Given the description of an element on the screen output the (x, y) to click on. 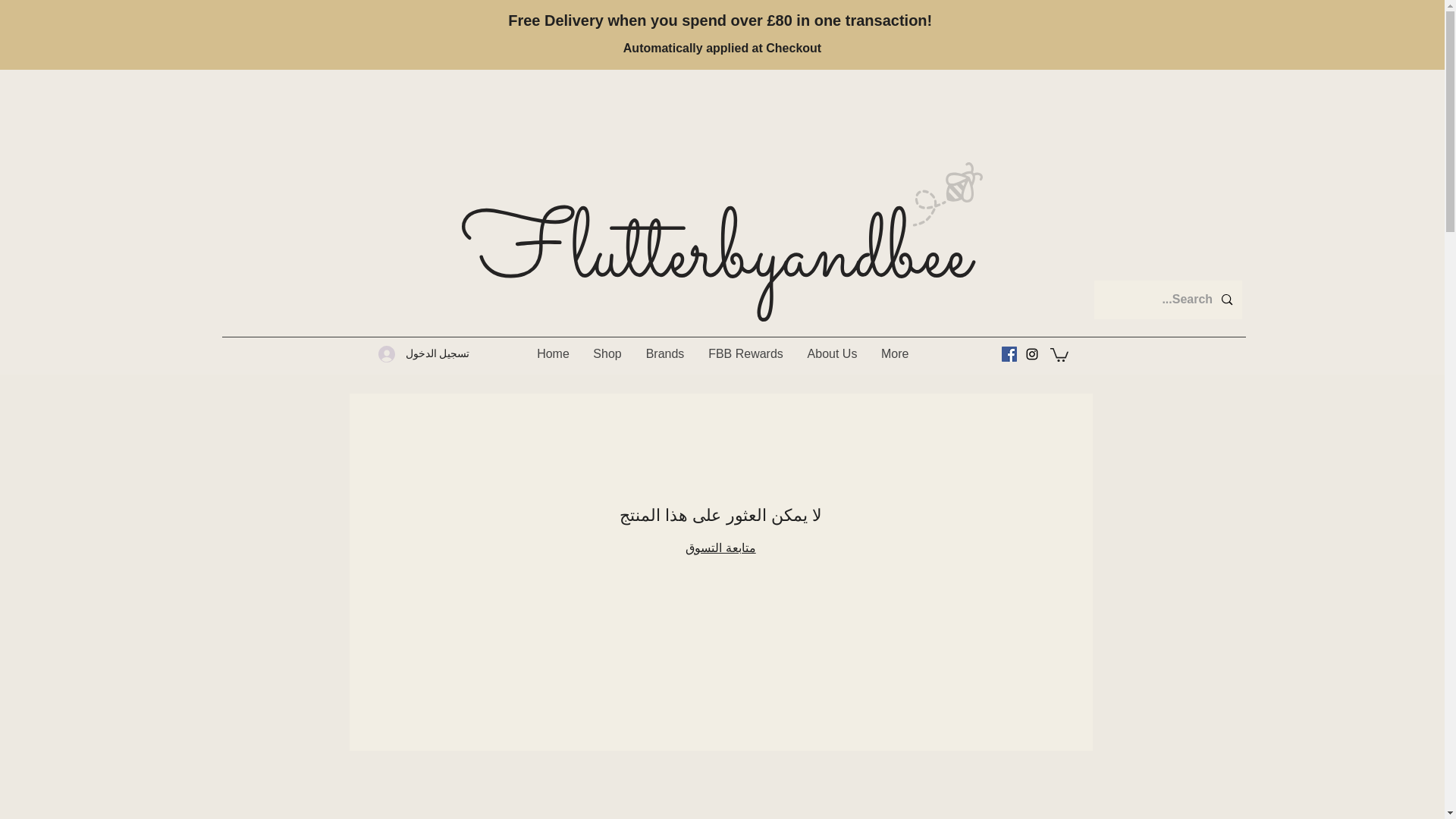
FBB Rewards (744, 354)
About Us (831, 354)
Automatically applied at Checkout (722, 47)
Home (552, 354)
